Given the description of an element on the screen output the (x, y) to click on. 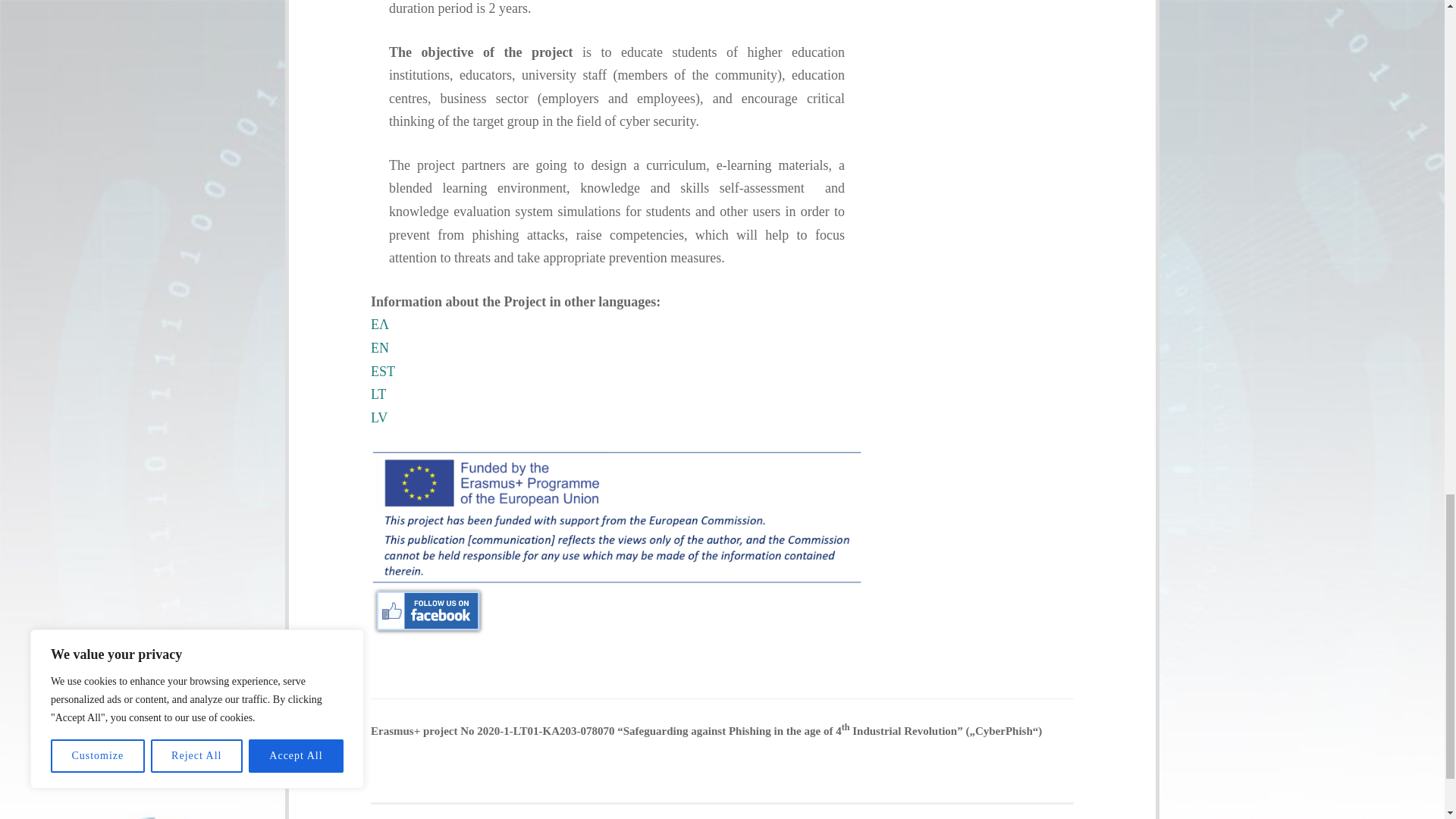
LV (379, 417)
EN (379, 347)
LT (378, 394)
EST (382, 371)
